Given the description of an element on the screen output the (x, y) to click on. 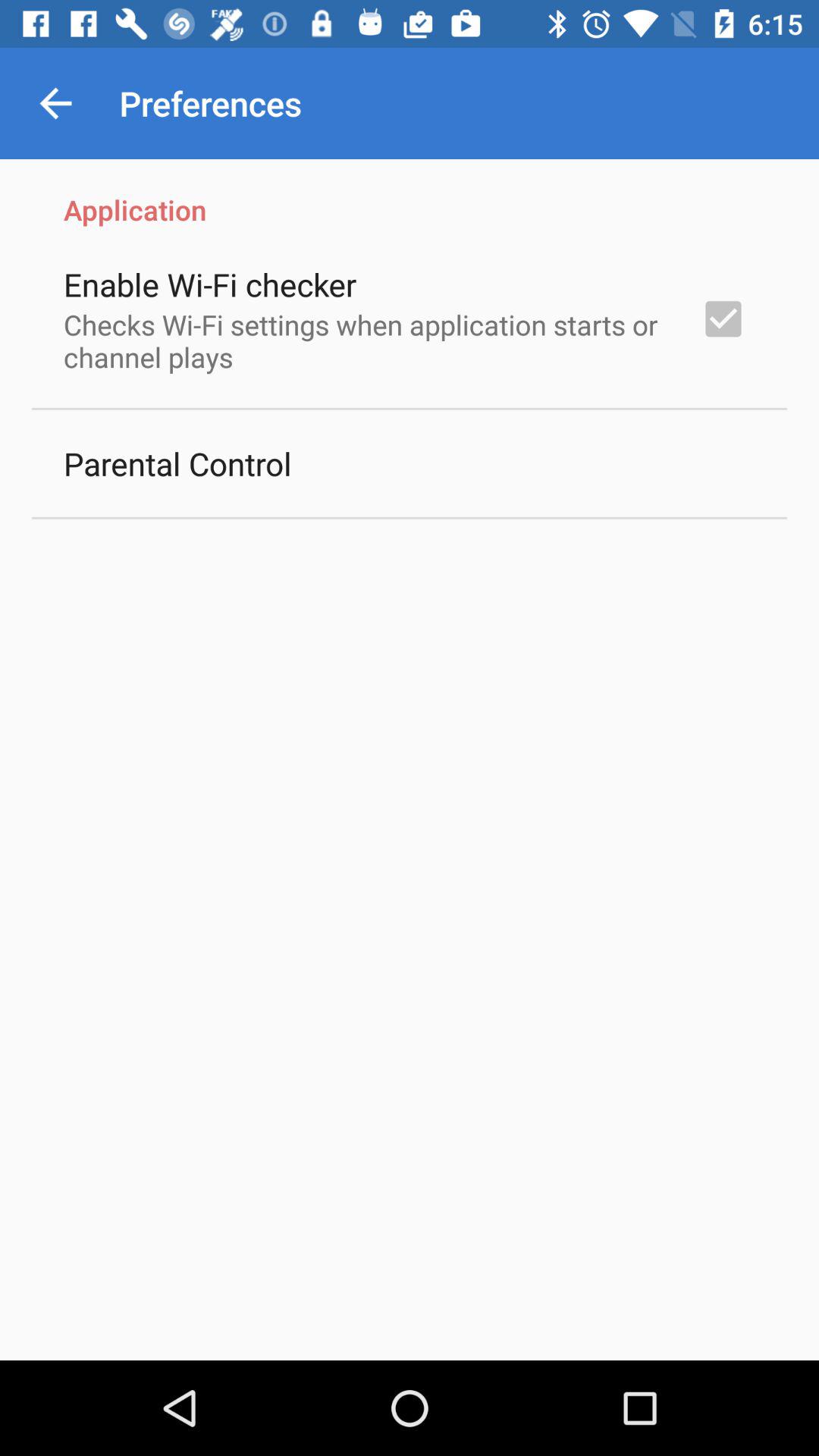
click the item to the left of the preferences app (55, 103)
